Given the description of an element on the screen output the (x, y) to click on. 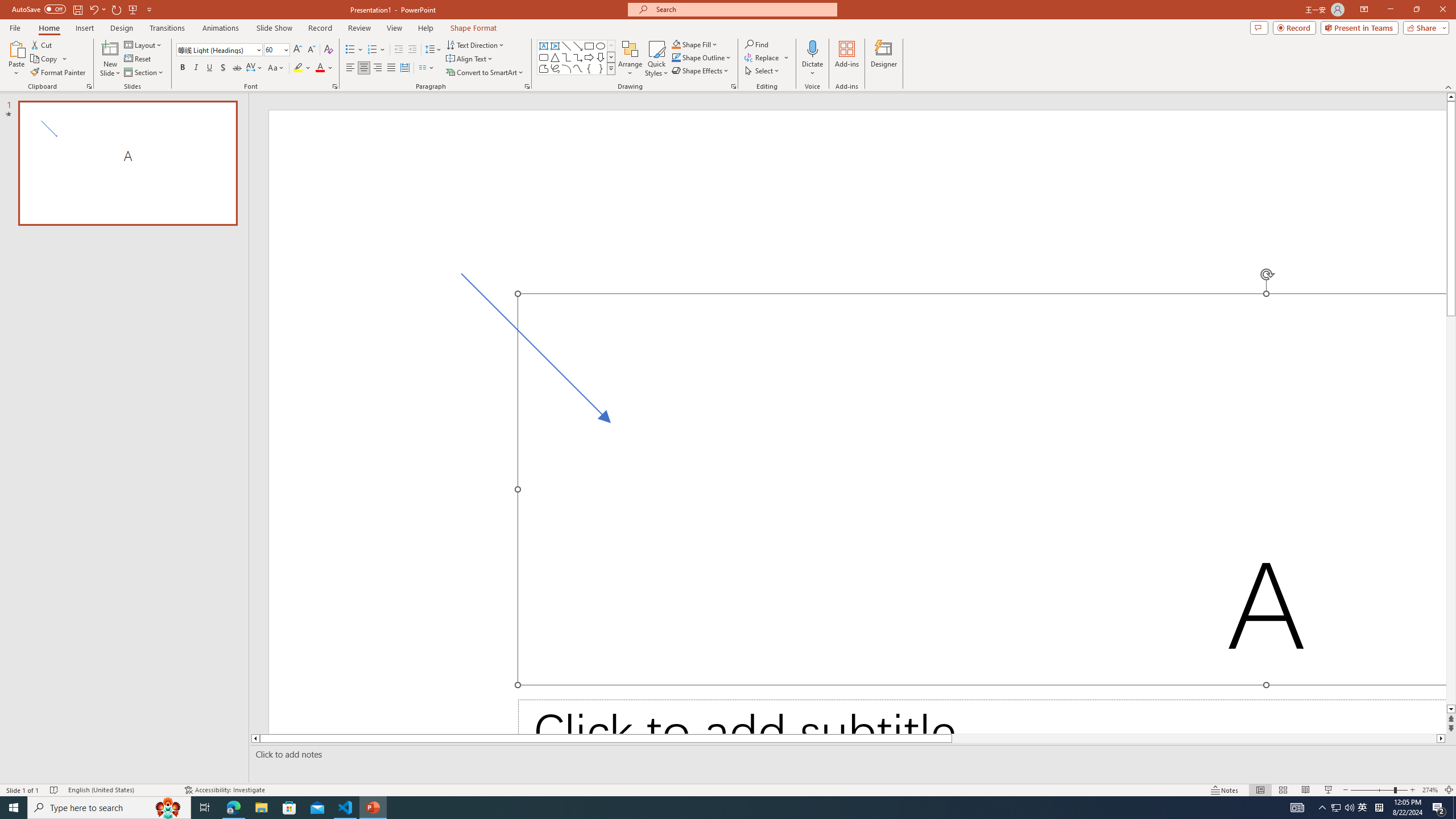
Slide Notes (849, 754)
